Given the description of an element on the screen output the (x, y) to click on. 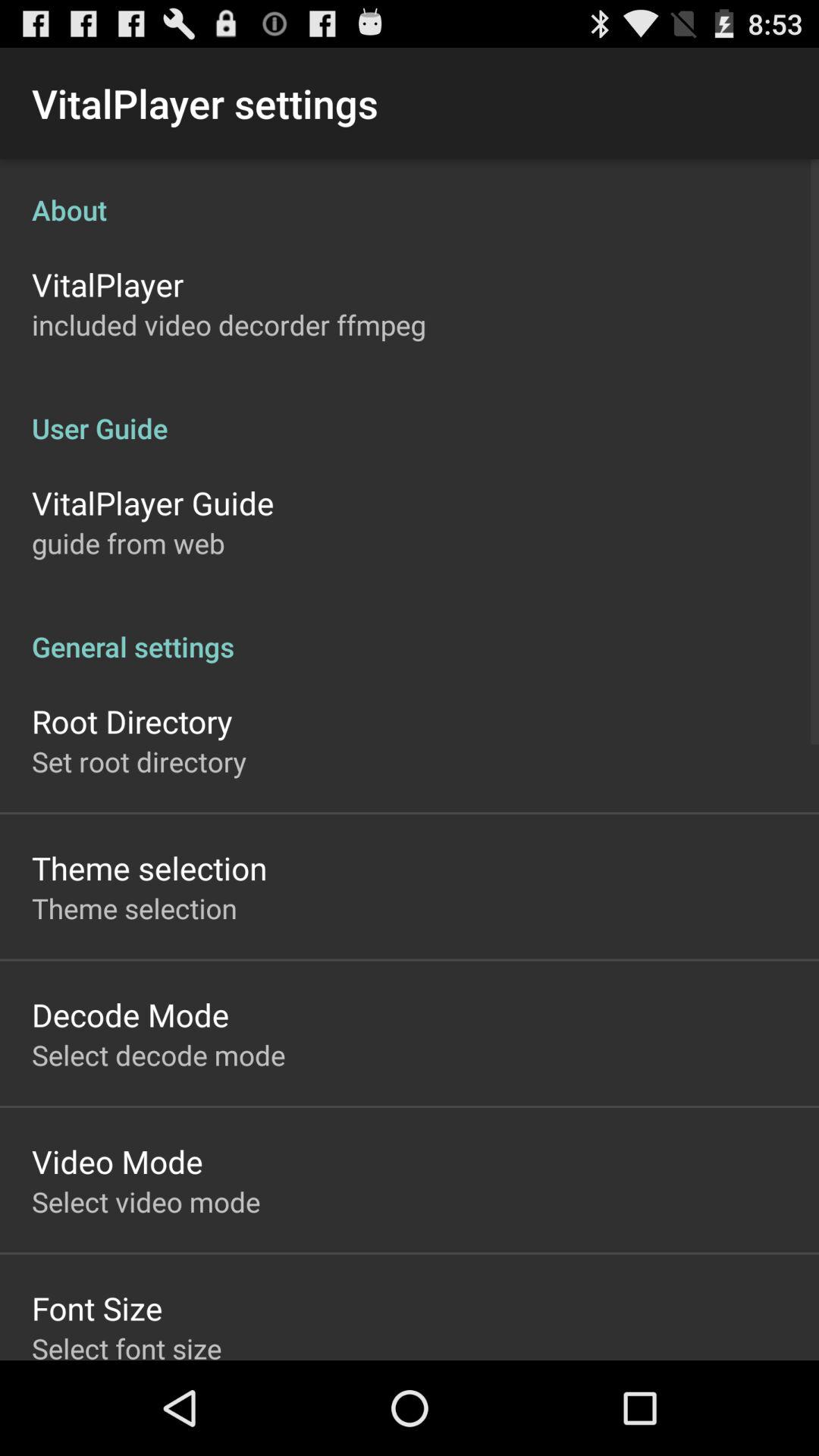
choose the item below vitalplayer guide icon (127, 542)
